Given the description of an element on the screen output the (x, y) to click on. 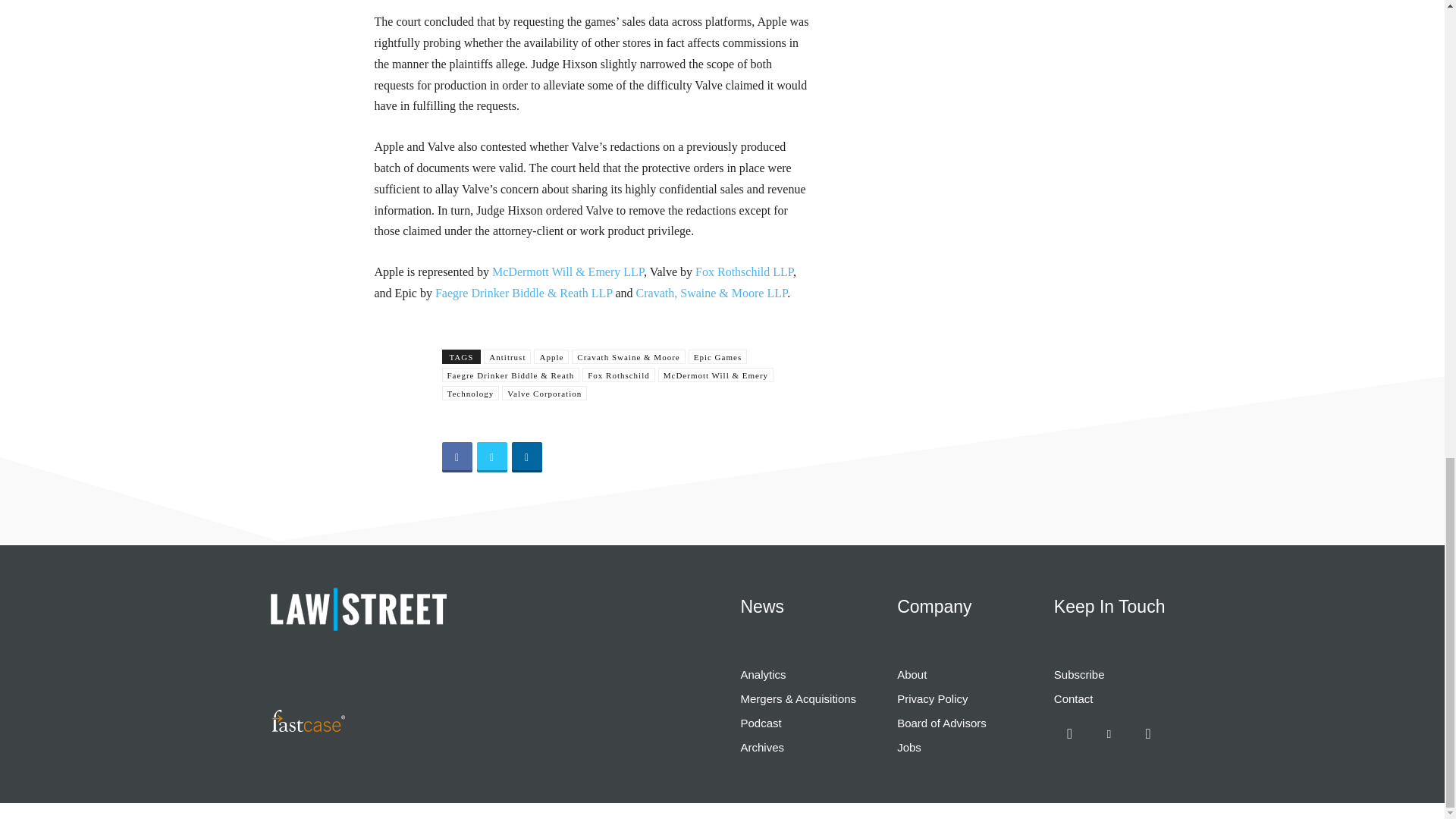
Twitter (491, 457)
Linkedin (1109, 734)
Linkedin (526, 457)
LawStreetMediaLogo (357, 608)
Fox Rothschild LLP (743, 271)
Facebook (456, 457)
Facebook (1070, 734)
